Given the description of an element on the screen output the (x, y) to click on. 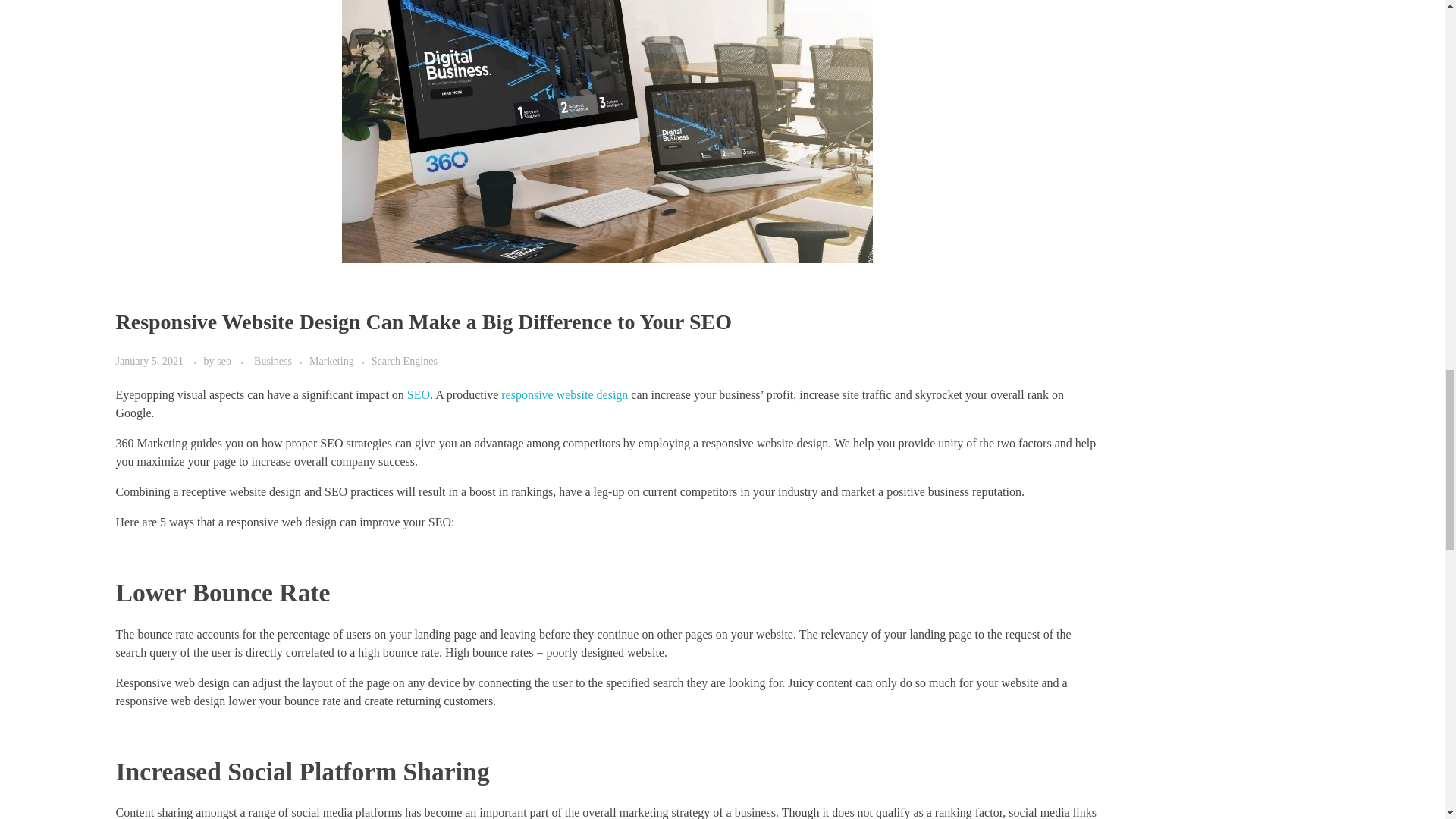
Marketing (339, 360)
Business (280, 360)
seo (224, 360)
View all posts in Business (280, 360)
January 5, 2021 (150, 360)
View all posts in Search Engines (404, 360)
SEO (418, 394)
2021-01-05T10:53:48-05:00 (149, 360)
View all posts in Marketing (339, 360)
View all posts by seo (224, 360)
Search Engines (404, 360)
responsive website design (563, 394)
